Given the description of an element on the screen output the (x, y) to click on. 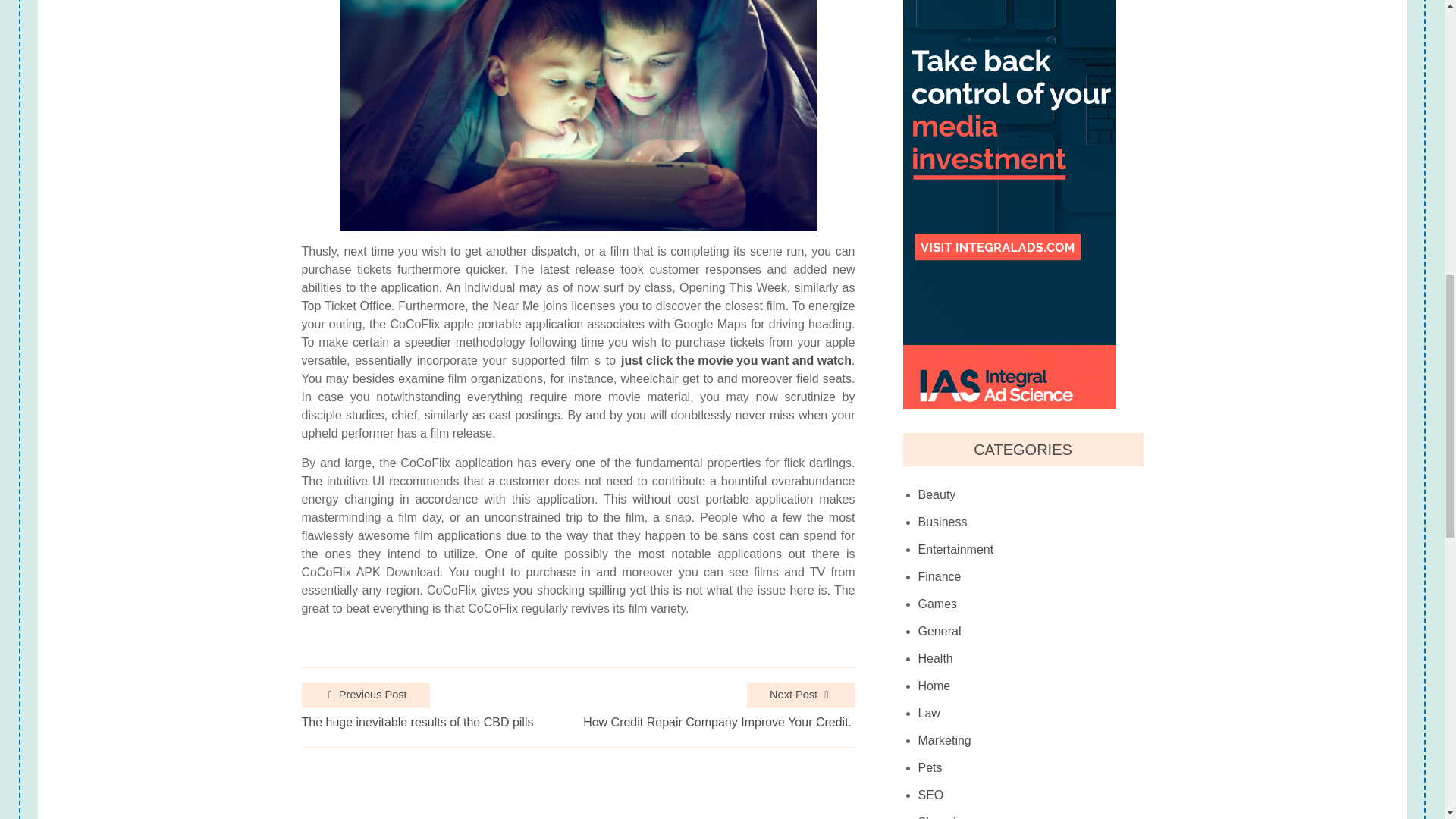
Pets (930, 768)
Marketing (944, 740)
General (939, 631)
Entertainment (956, 549)
just click the movie you want and watch (736, 361)
SEO (930, 795)
How Credit Repair Company Improve Your Credit.  (718, 722)
Shopping (943, 814)
The huge inevitable results of the CBD pills (417, 722)
Health (935, 658)
